Given the description of an element on the screen output the (x, y) to click on. 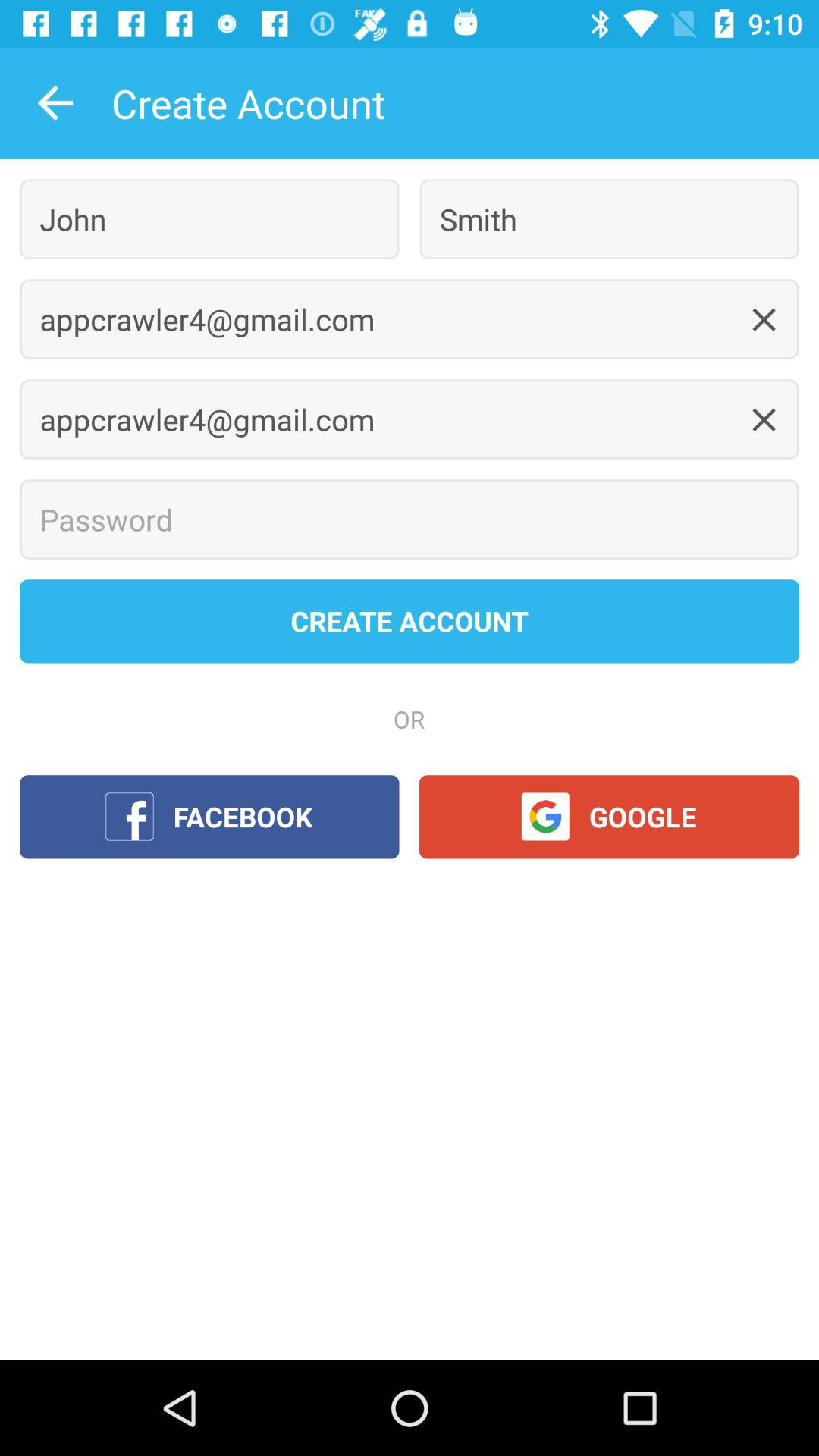
create password option (409, 519)
